Given the description of an element on the screen output the (x, y) to click on. 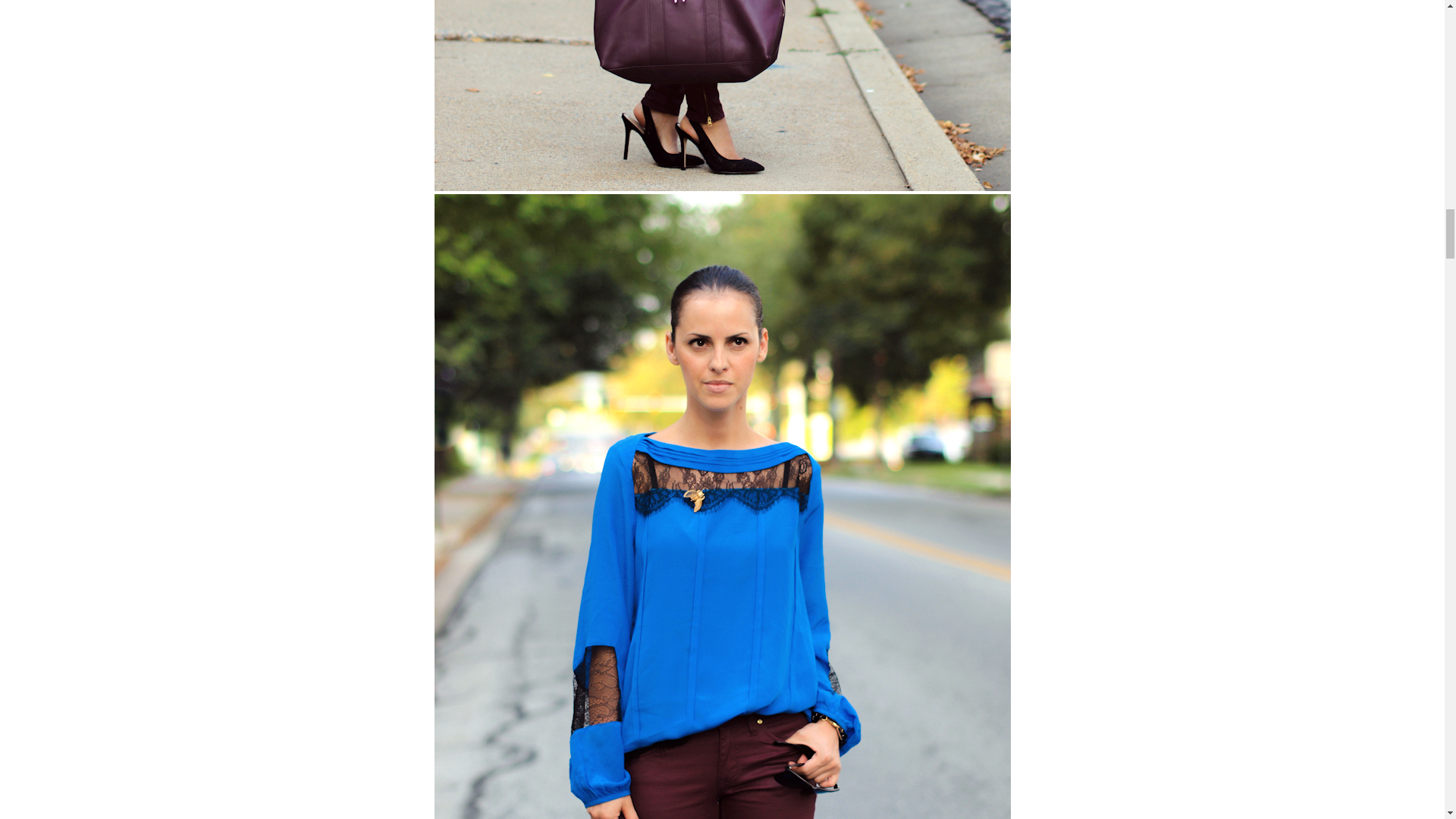
Glimpses of Fall Colors (721, 95)
